Given the description of an element on the screen output the (x, y) to click on. 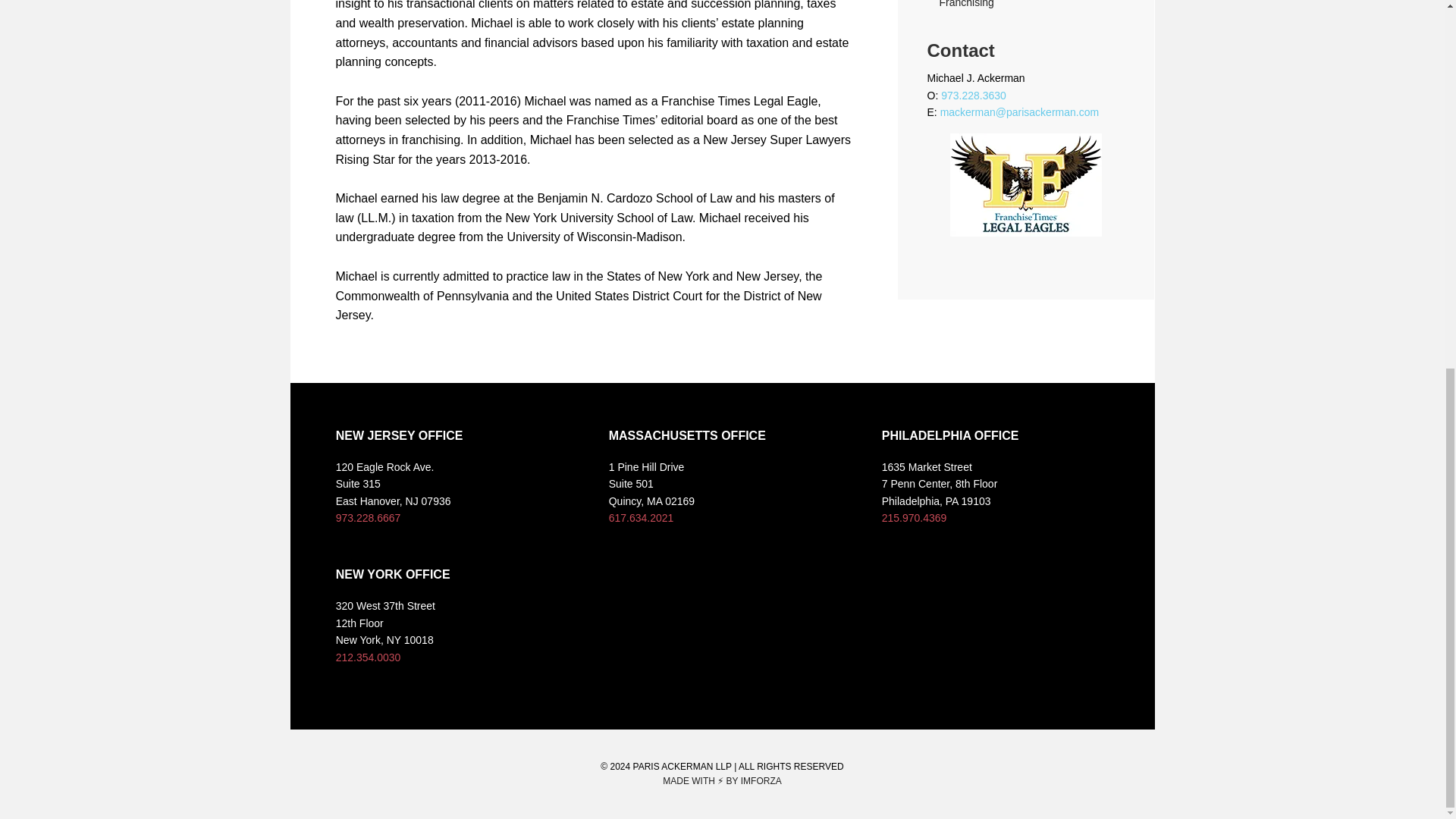
WordPress Website by imFORZA (700, 780)
The Internet Marketing Agency (761, 780)
973.228.3630 (973, 95)
